Given the description of an element on the screen output the (x, y) to click on. 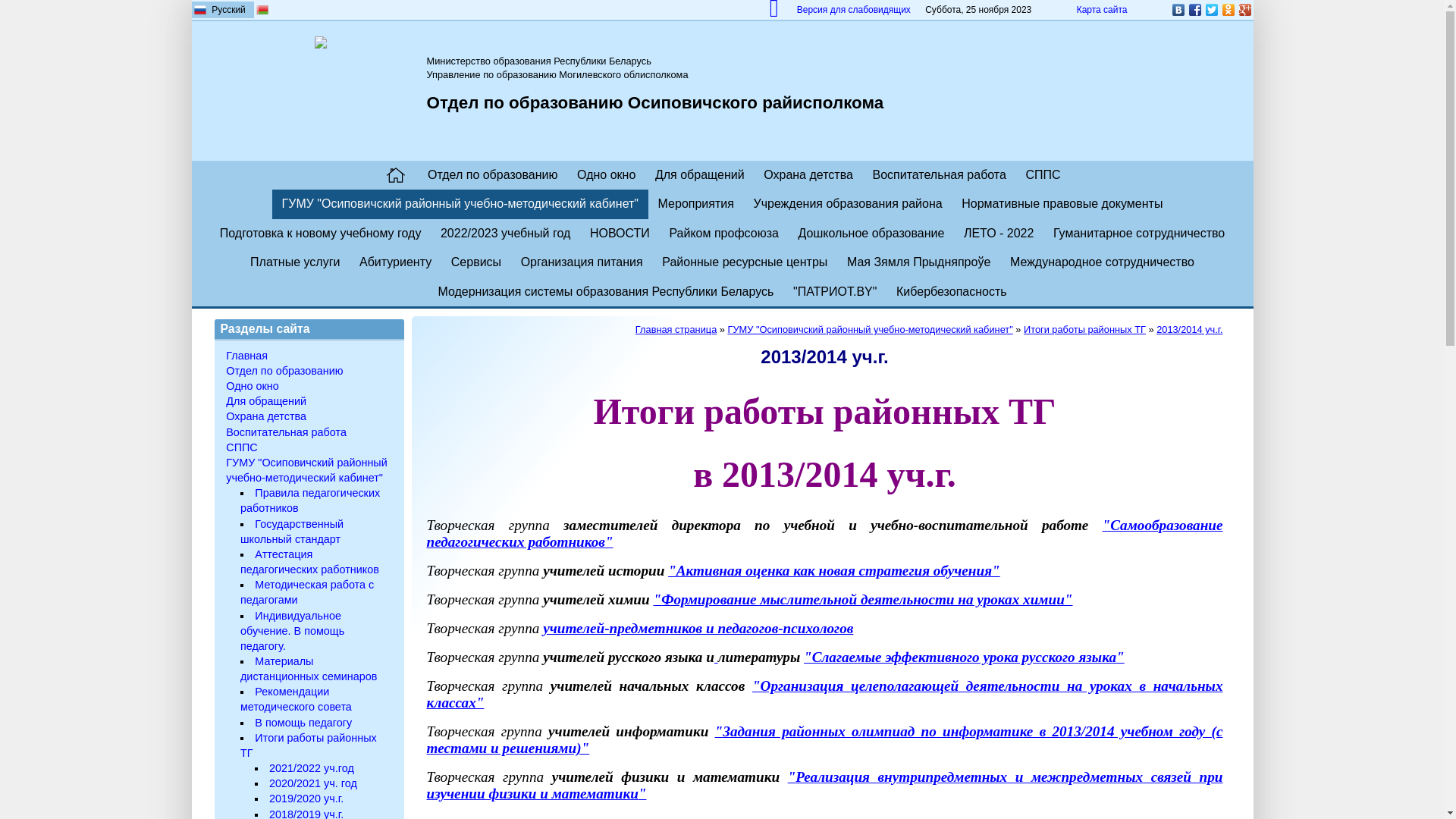
Google Plus Element type: hover (1244, 9)
" Element type: text (719, 731)
Twitter Element type: hover (1210, 9)
" Element type: text (657, 599)
Facebook Element type: hover (1194, 9)
